Given the description of an element on the screen output the (x, y) to click on. 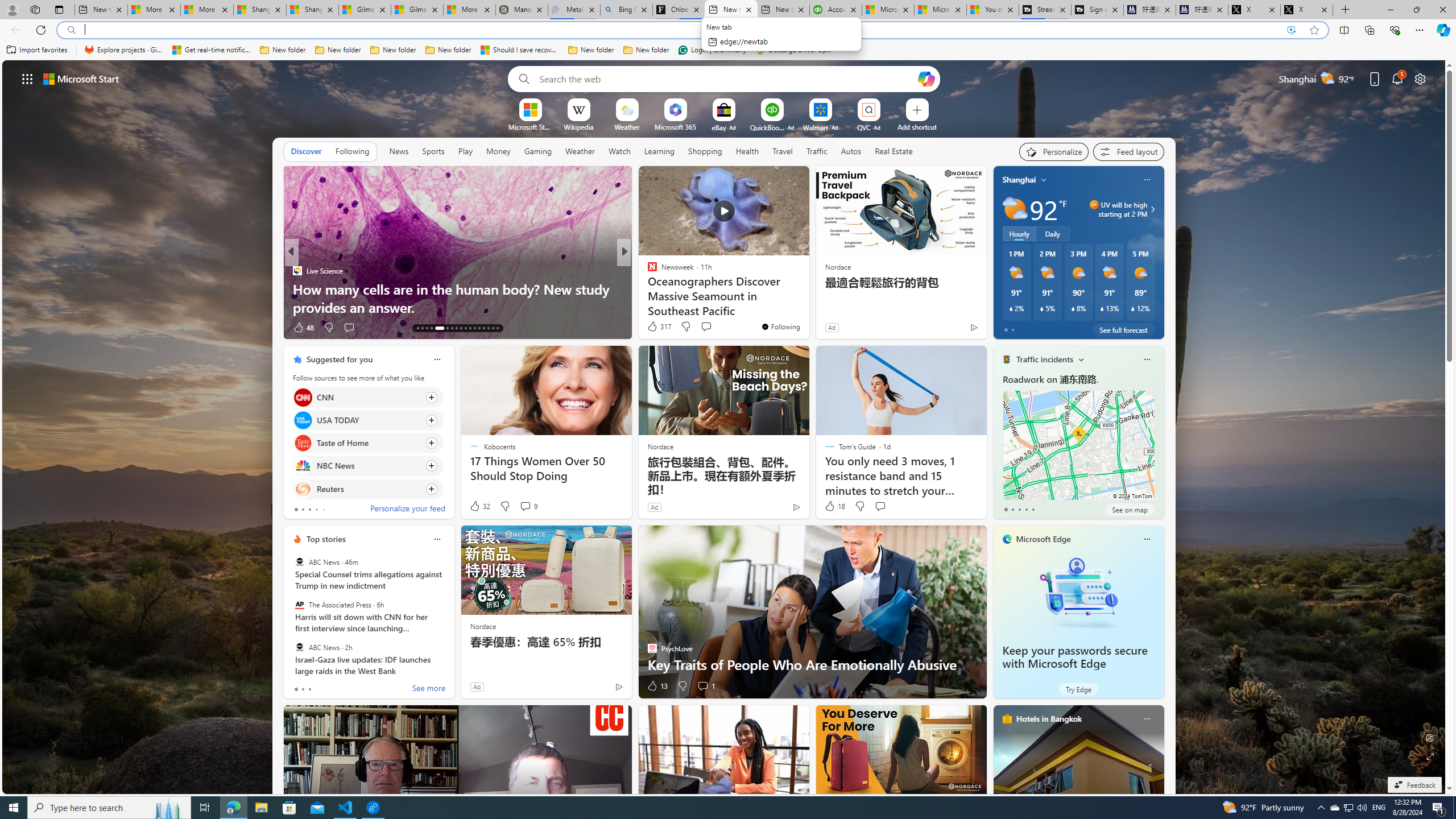
Enhance video (1291, 29)
New folder (646, 49)
View comments 16 Comment (703, 327)
View comments 14 Comment (707, 327)
Weather (580, 151)
Health (746, 151)
Page settings (1420, 78)
Partly sunny (1014, 208)
AutomationID: tab-13 (417, 328)
Microsoft start (81, 78)
Gaming (537, 151)
